Given the description of an element on the screen output the (x, y) to click on. 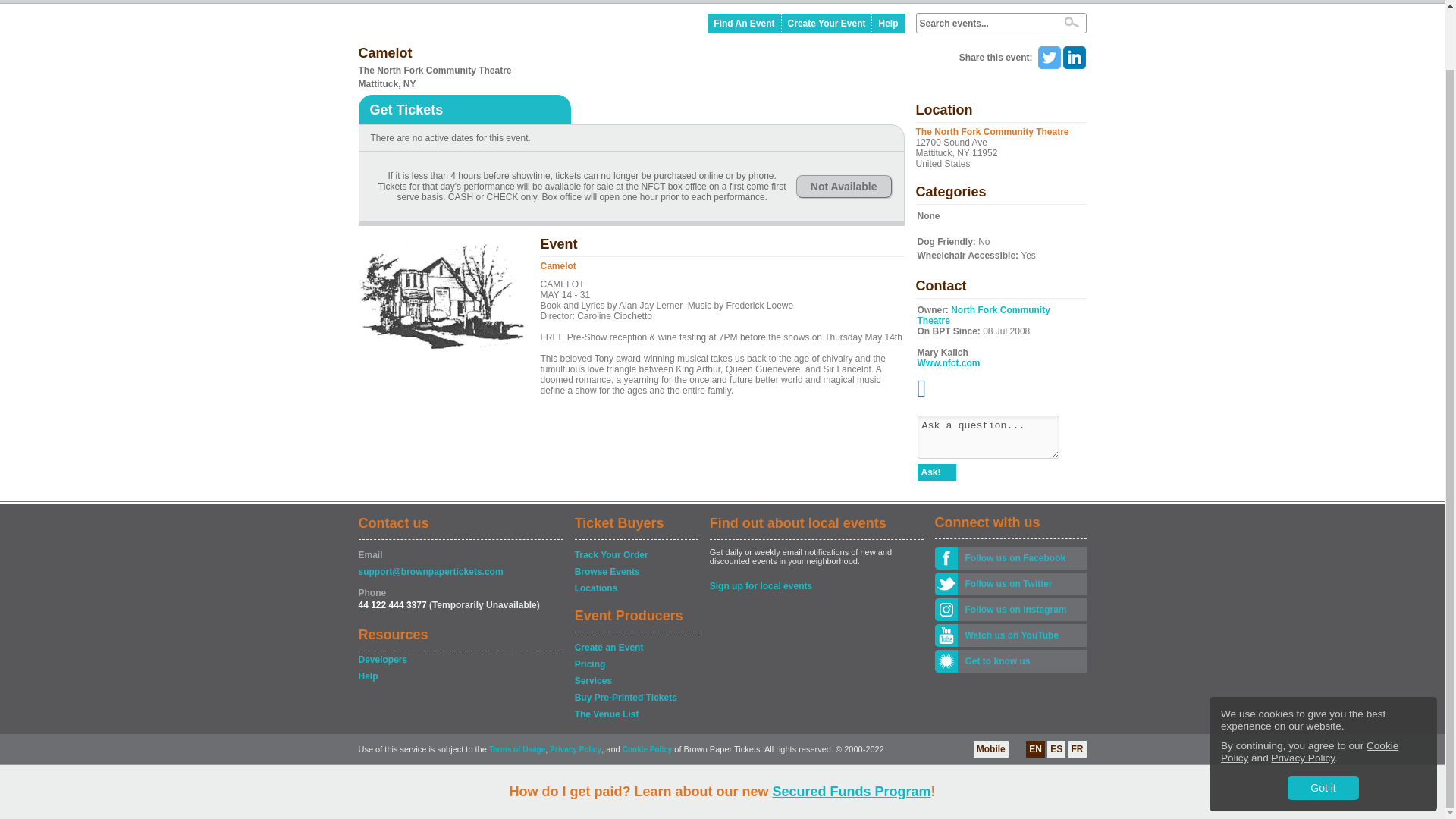
Locations (636, 588)
Www.nfct.com (948, 362)
Submit to Twitter! (1048, 57)
Search Events (1070, 21)
Not Available (843, 186)
Buy Pre-Printed Tickets (636, 697)
The Venue List (636, 713)
Secured Funds Program (850, 726)
Developers (460, 659)
Services (636, 680)
Got it (1322, 722)
Search events... (984, 23)
Help (888, 23)
Follow us on Facebook (1021, 558)
Find An Event (743, 23)
